Given the description of an element on the screen output the (x, y) to click on. 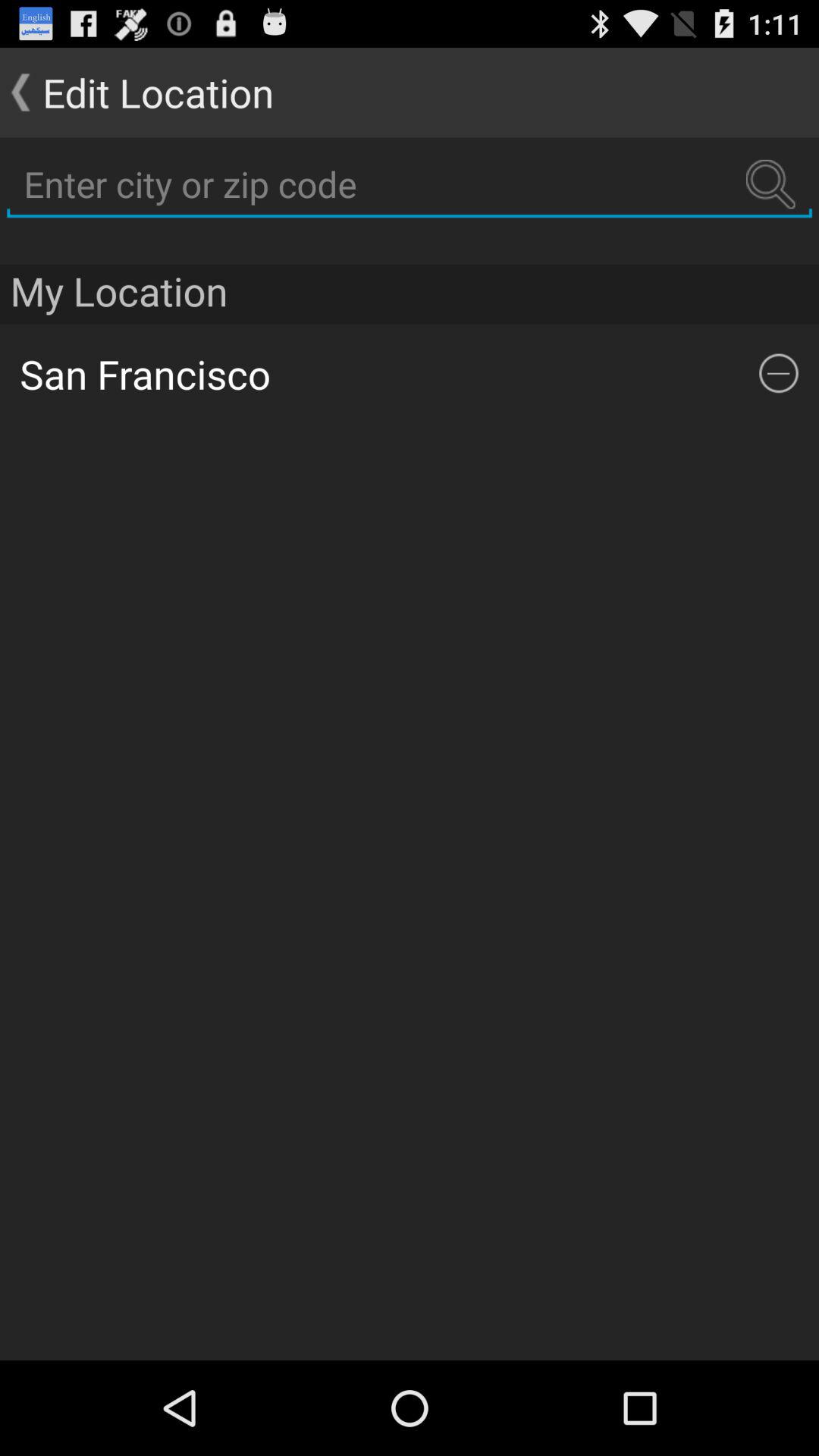
click item at the top right corner (779, 373)
